Given the description of an element on the screen output the (x, y) to click on. 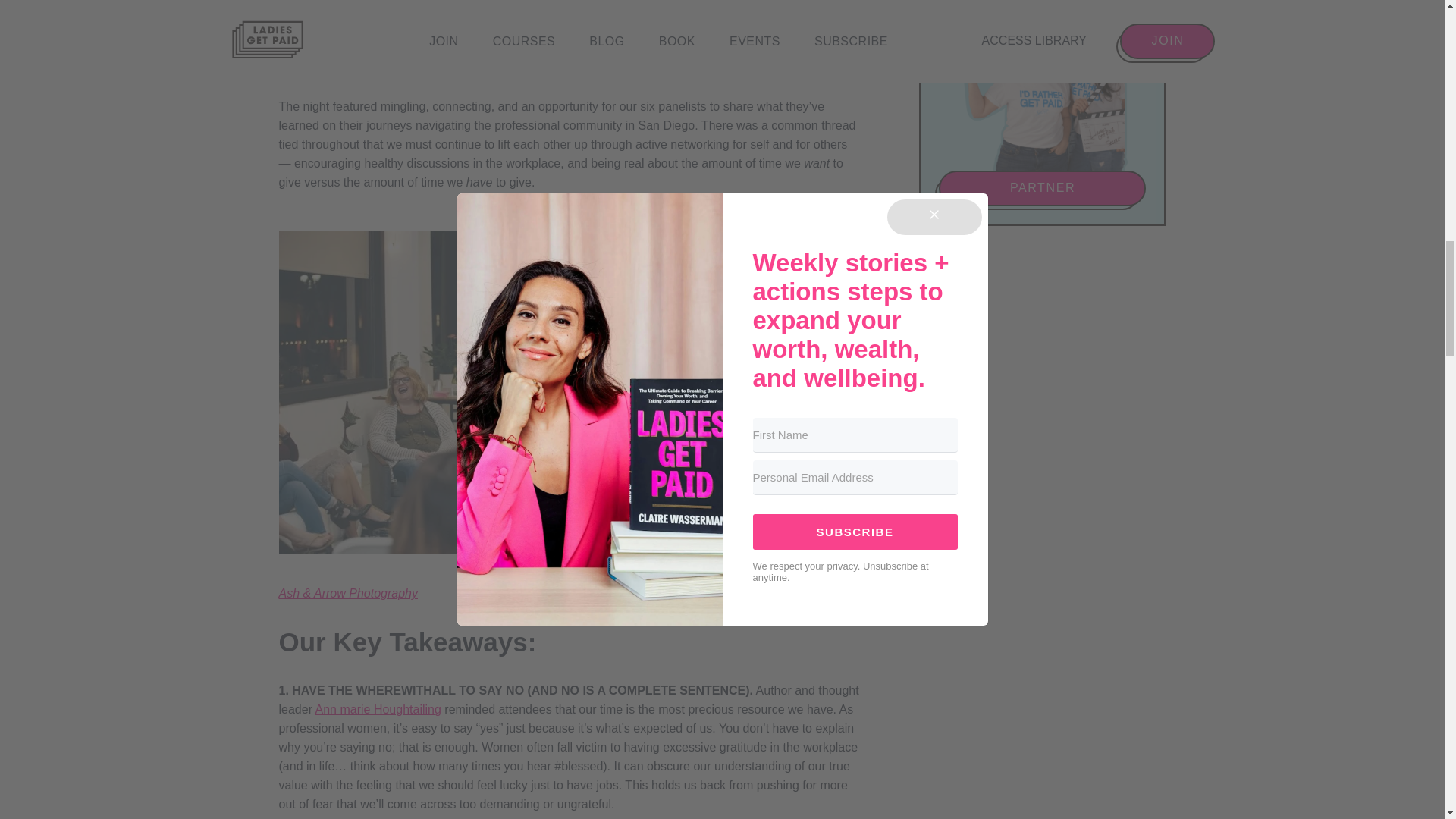
Union Cowork East Village (417, 6)
Ann marie Houghtailing (378, 708)
